Given the description of an element on the screen output the (x, y) to click on. 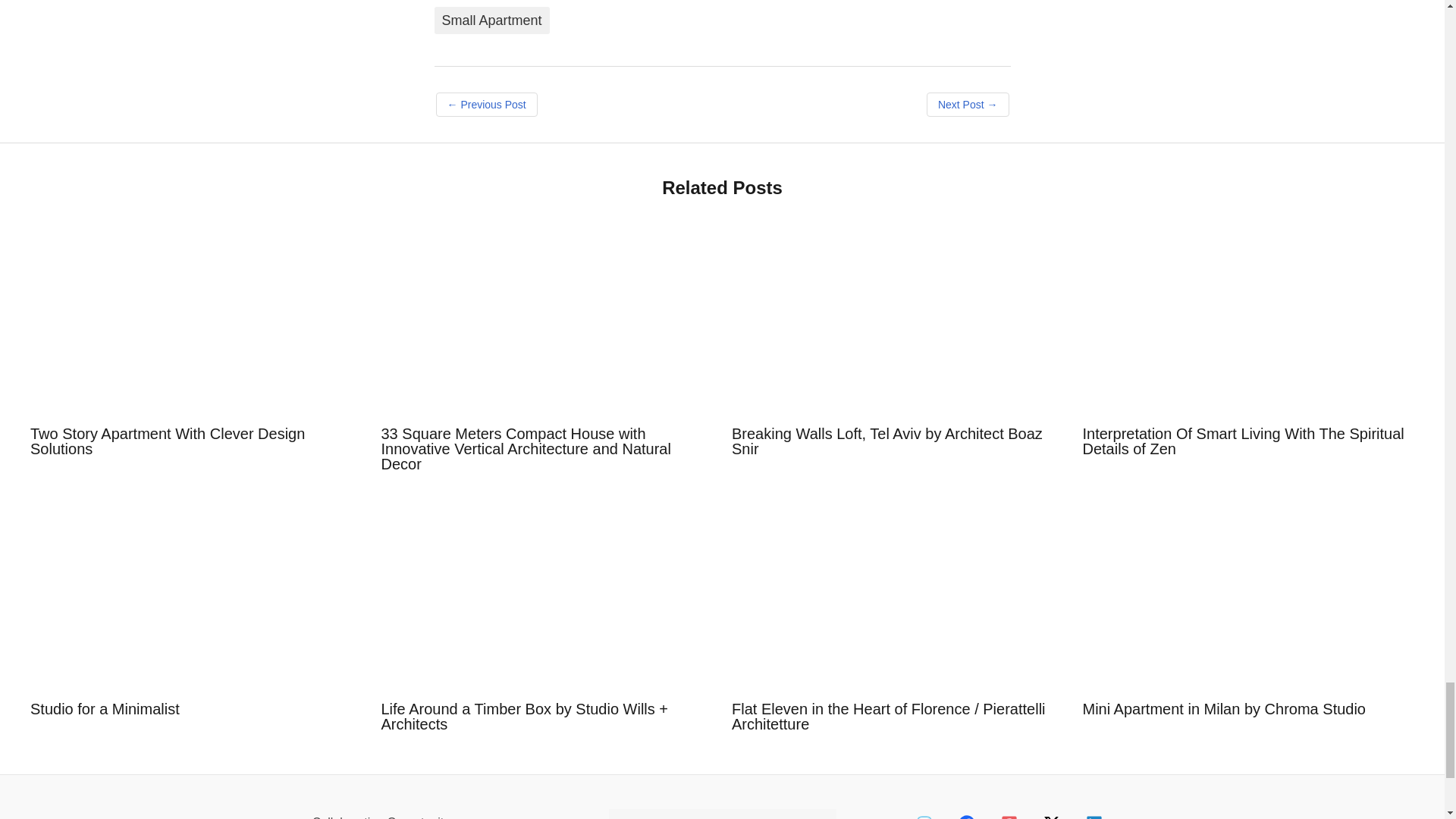
Westmere House by Stevens Lawson Architects (486, 104)
Contemporary Apartment Personalized in Gray and White (967, 104)
